Given the description of an element on the screen output the (x, y) to click on. 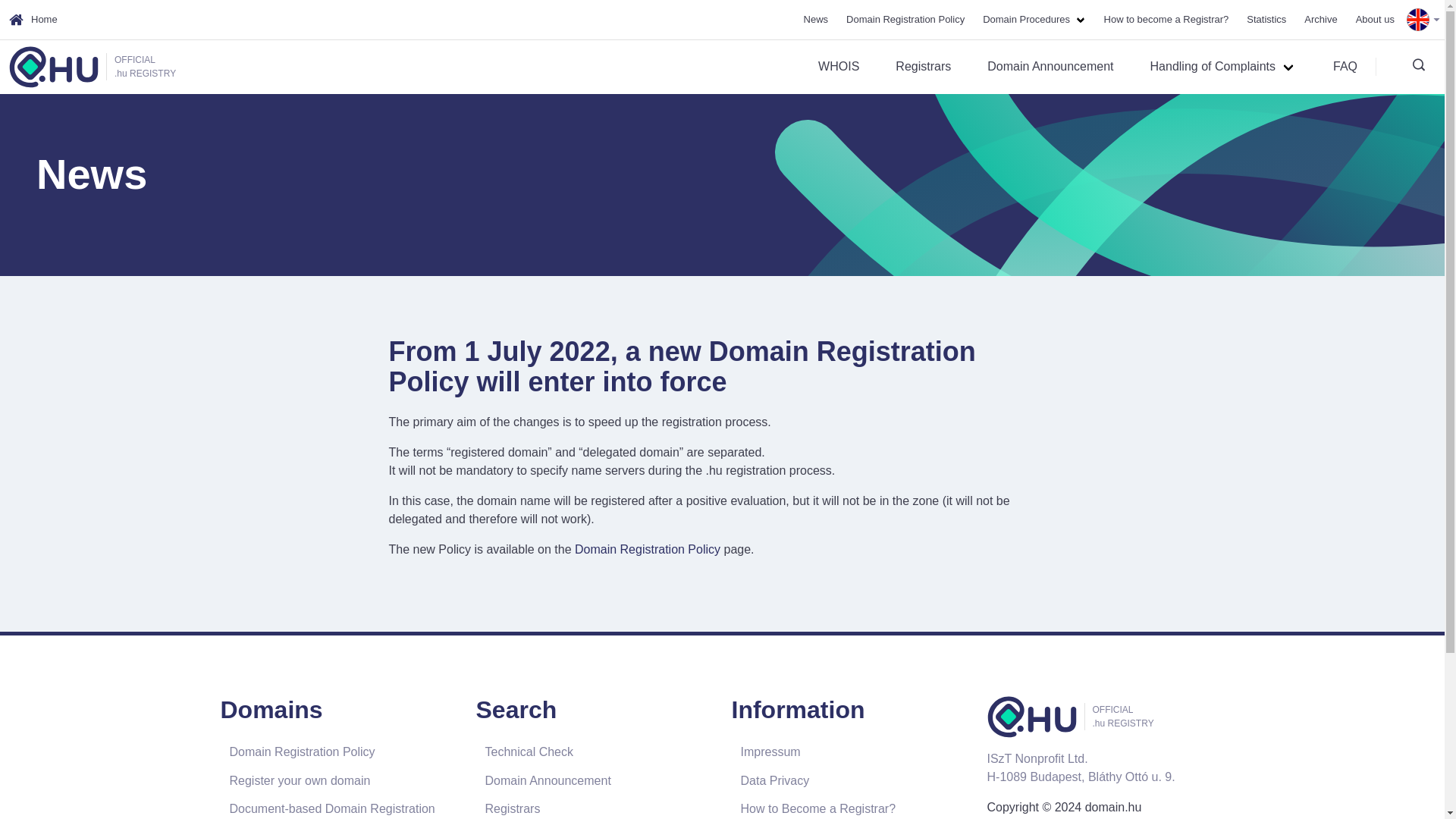
News (91, 173)
Home (33, 19)
Handling of Complaints (1223, 66)
OK (1408, 132)
Domain Registration Policy (647, 549)
Archive (1320, 19)
Statistics (1266, 19)
Domain Announcement (1050, 67)
Domain Procedures (1034, 19)
About us (1374, 19)
